Given the description of an element on the screen output the (x, y) to click on. 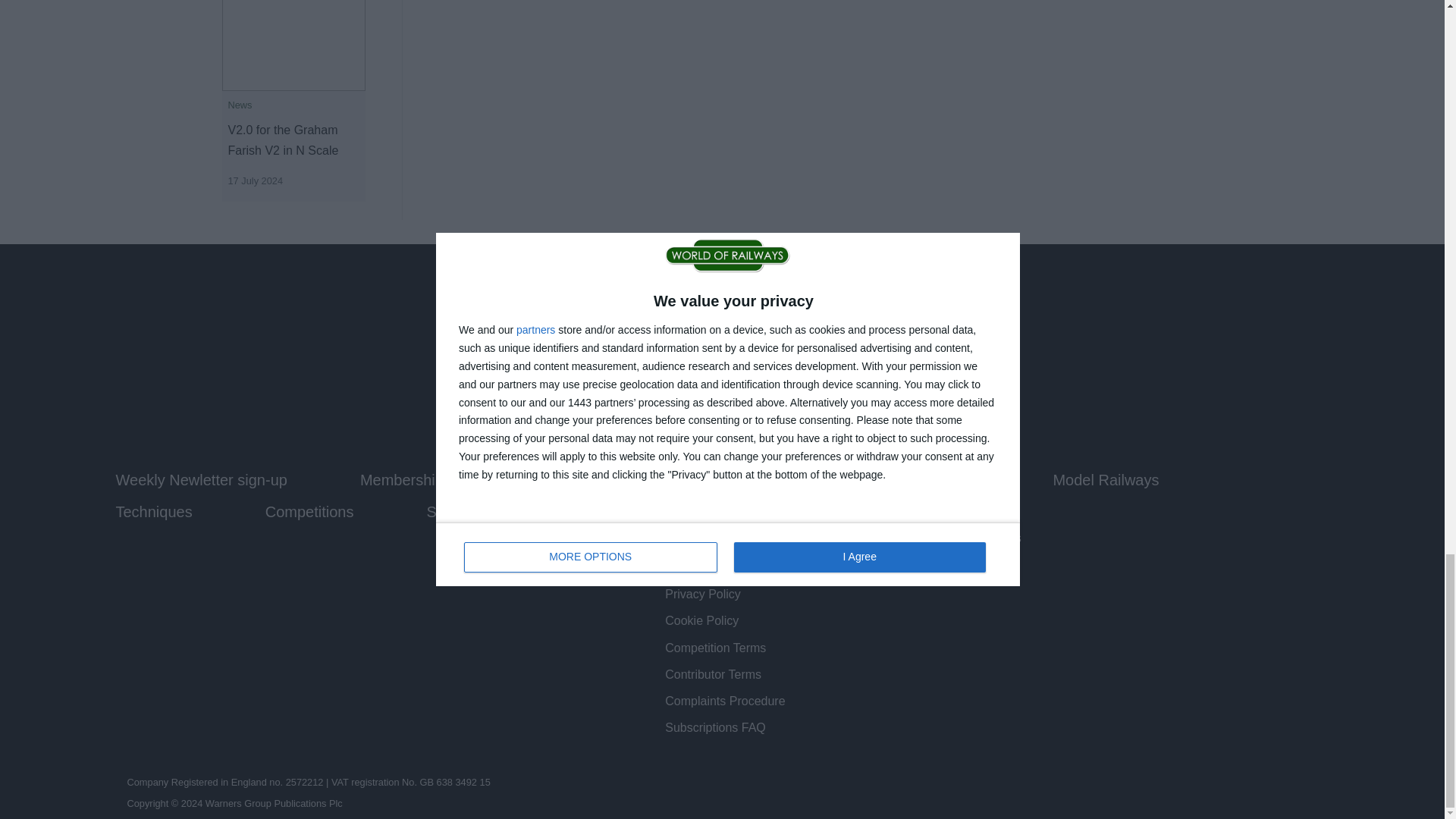
View your Advertising Consent options for this website (944, 537)
